Given the description of an element on the screen output the (x, y) to click on. 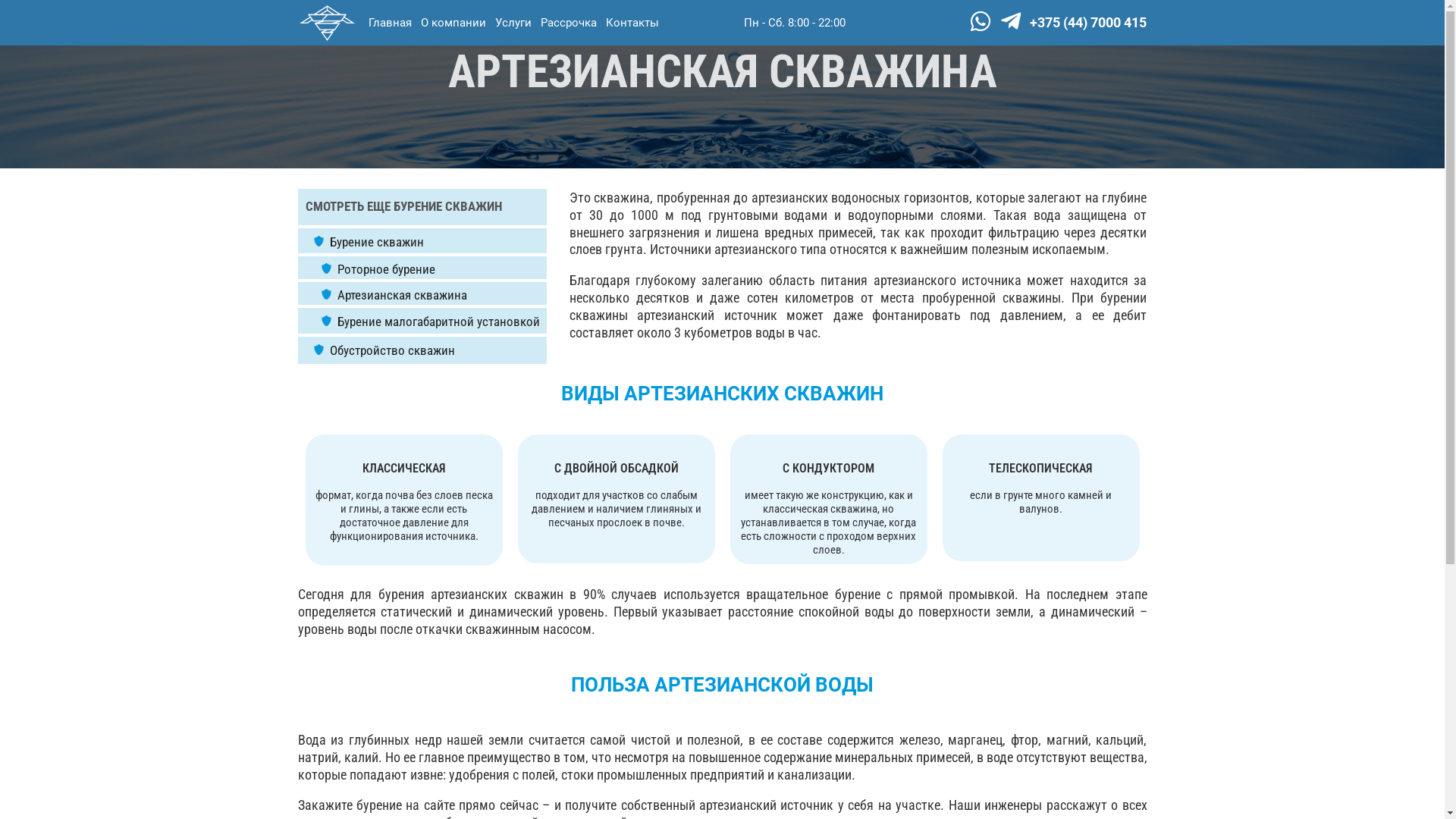
+375 (44) 7000 415 Element type: text (1087, 22)
